Given the description of an element on the screen output the (x, y) to click on. 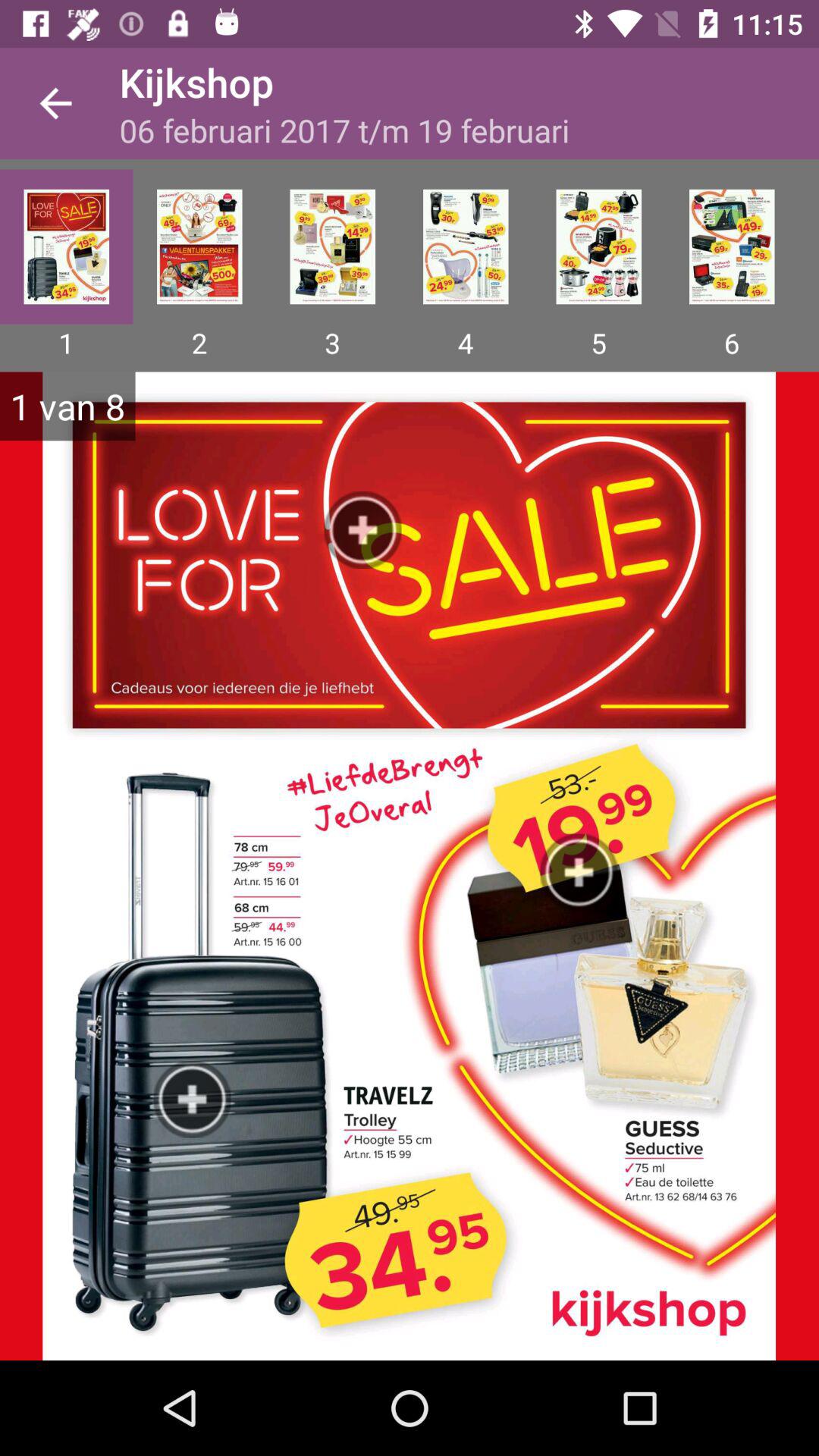
choose the icon above 4 item (465, 246)
